Given the description of an element on the screen output the (x, y) to click on. 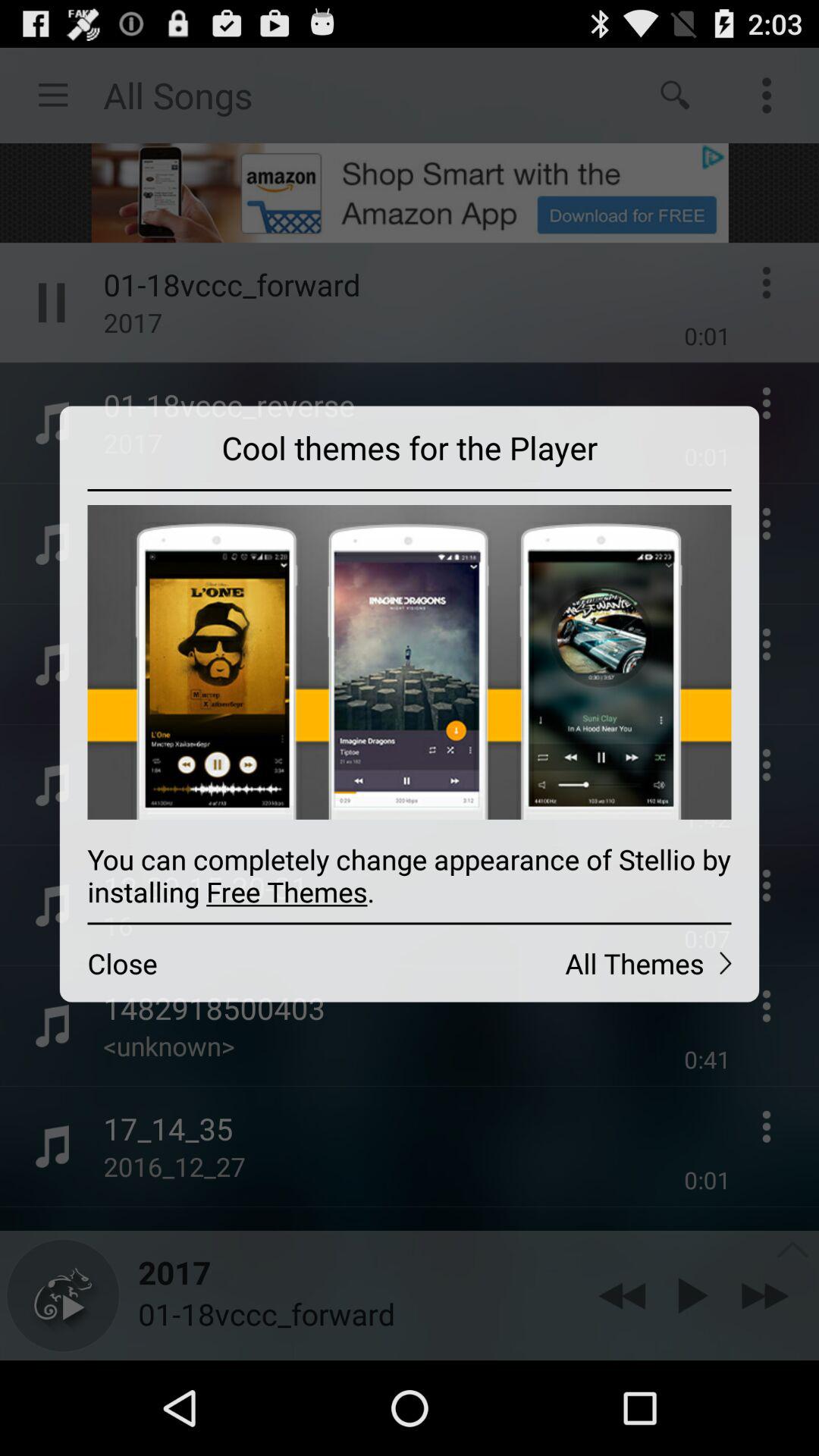
click icon below you can completely app (584, 963)
